Given the description of an element on the screen output the (x, y) to click on. 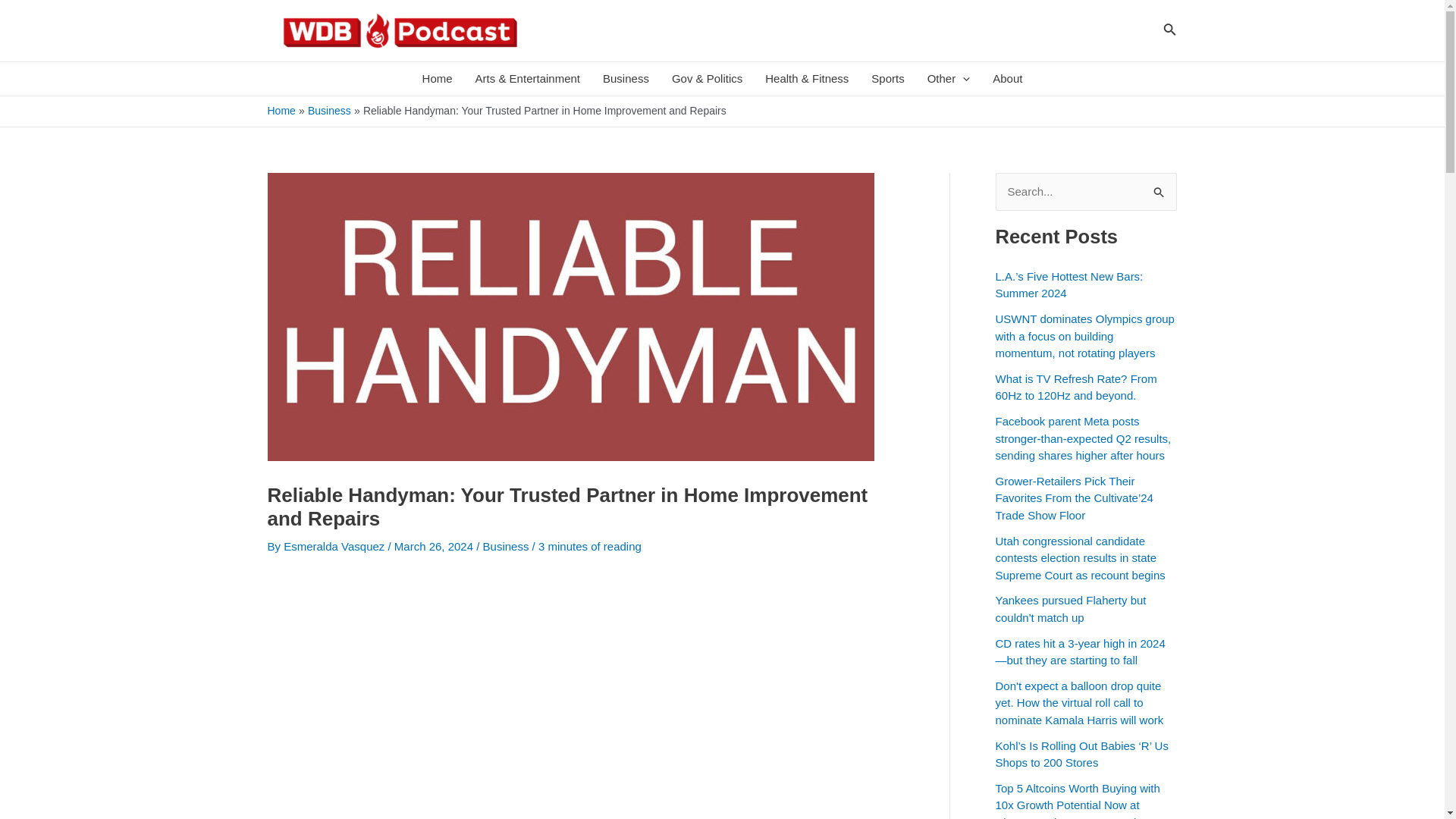
Home (437, 78)
Business (626, 78)
Advertisement (584, 813)
Other (948, 78)
About (1007, 78)
Search (1158, 187)
View all posts by Esmeralda Vasquez (335, 545)
Search (1158, 187)
Sports (887, 78)
